Given the description of an element on the screen output the (x, y) to click on. 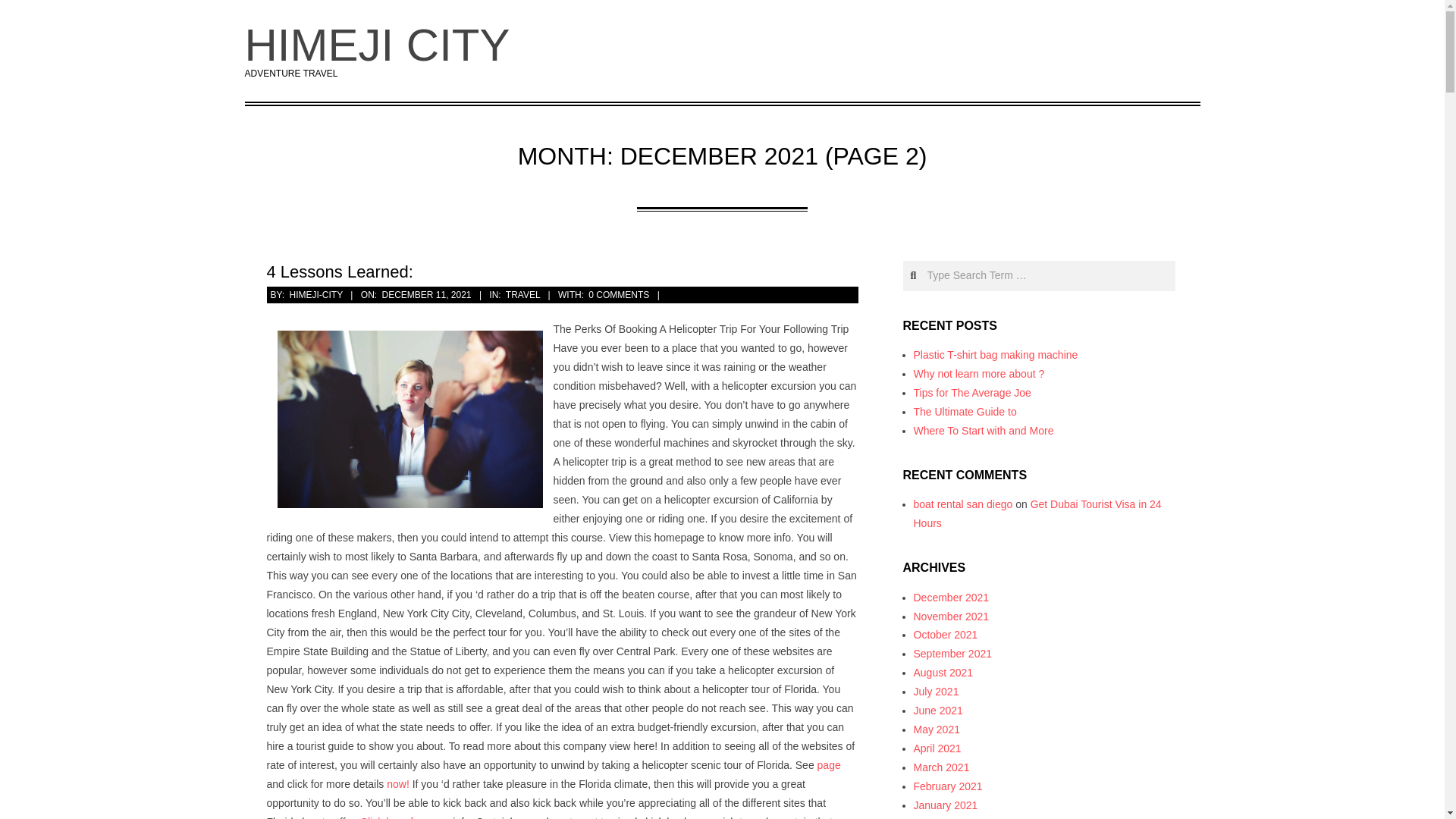
page (828, 765)
TRAVEL (522, 294)
Click here for more (404, 817)
HIMEJI-CITY (315, 294)
0 COMMENTS (618, 294)
Saturday, December 11, 2021, 9:11 am (425, 294)
Posts by himeji-city (315, 294)
4 Lessons Learned: (339, 271)
now! (398, 784)
HIMEJI CITY (376, 44)
